Given the description of an element on the screen output the (x, y) to click on. 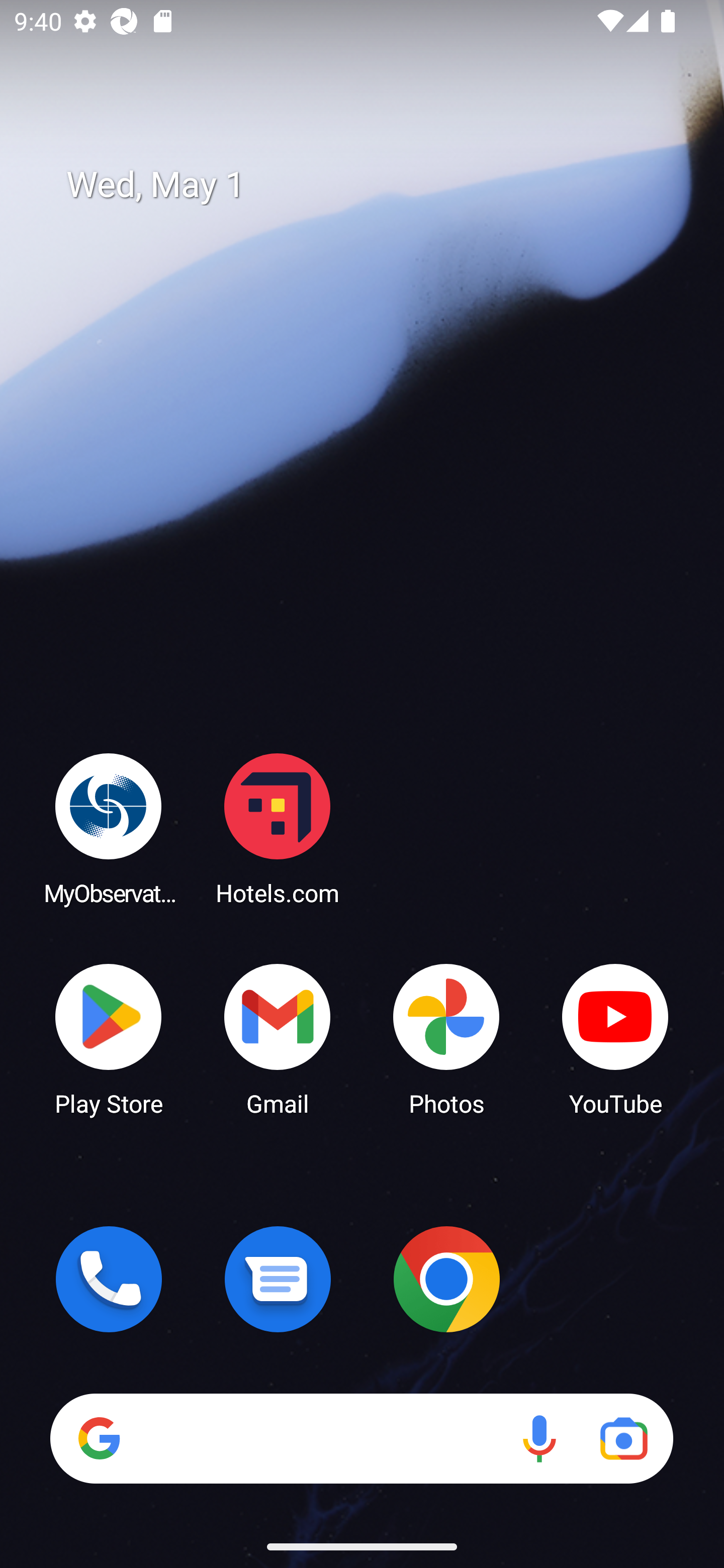
Wed, May 1 (375, 184)
MyObservatory (108, 828)
Hotels.com (277, 828)
Play Store (108, 1038)
Gmail (277, 1038)
Photos (445, 1038)
YouTube (615, 1038)
Phone (108, 1279)
Messages (277, 1279)
Chrome (446, 1279)
Search Voice search Google Lens (361, 1438)
Voice search (539, 1438)
Google Lens (623, 1438)
